Given the description of an element on the screen output the (x, y) to click on. 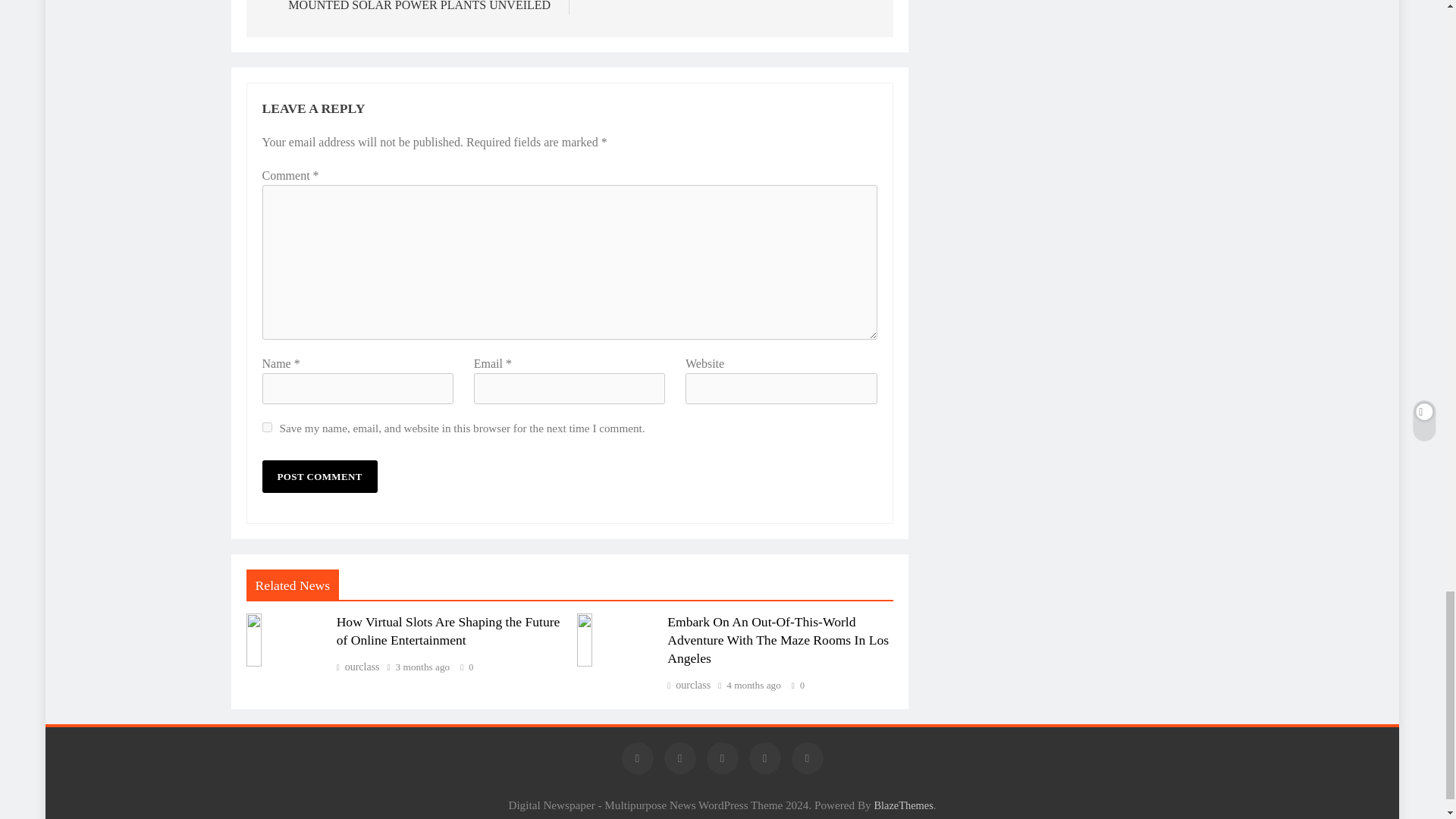
Post Comment (319, 476)
yes (267, 427)
